Given the description of an element on the screen output the (x, y) to click on. 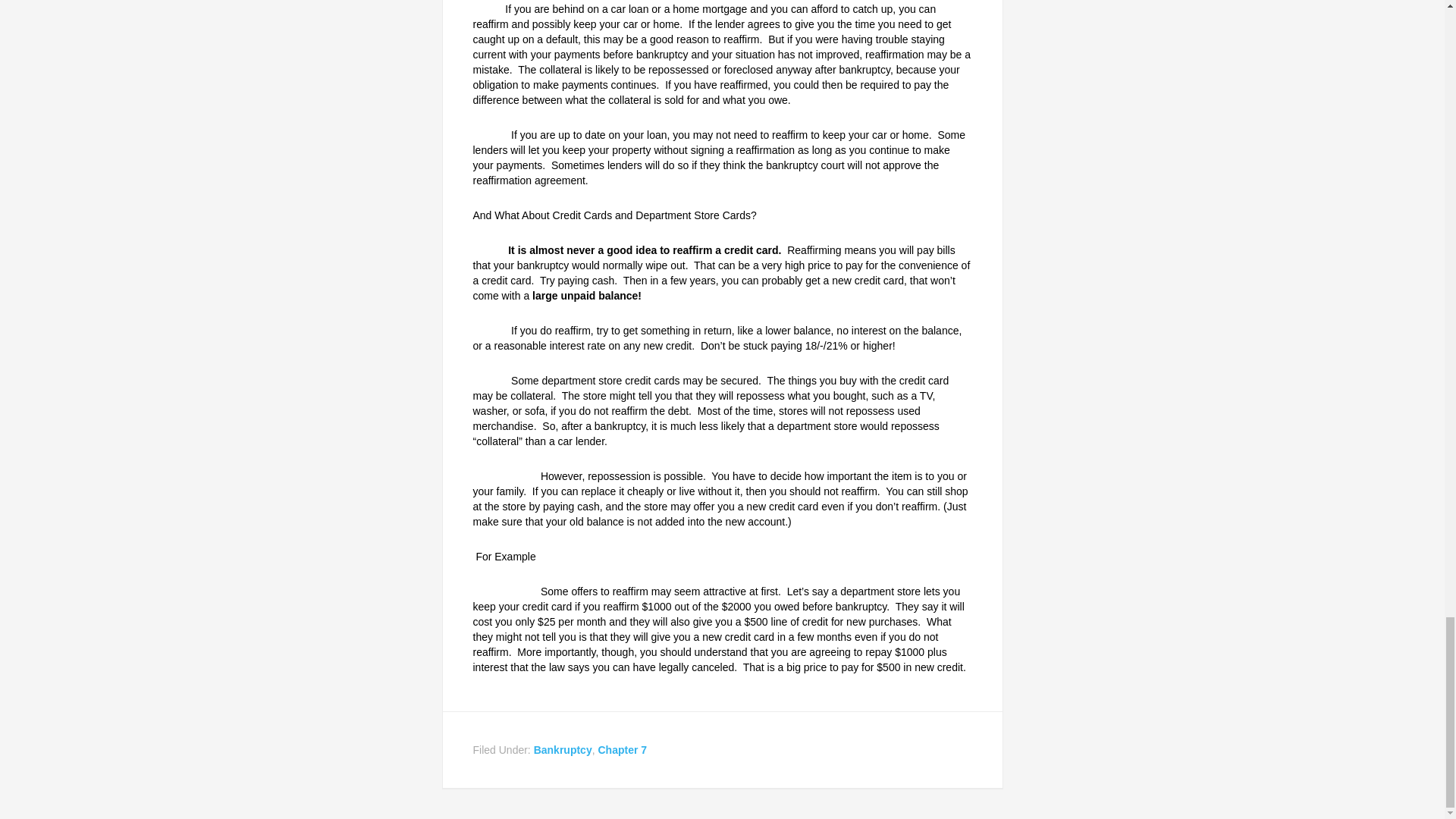
Chapter 7 (621, 749)
Bankruptcy (563, 749)
